Given the description of an element on the screen output the (x, y) to click on. 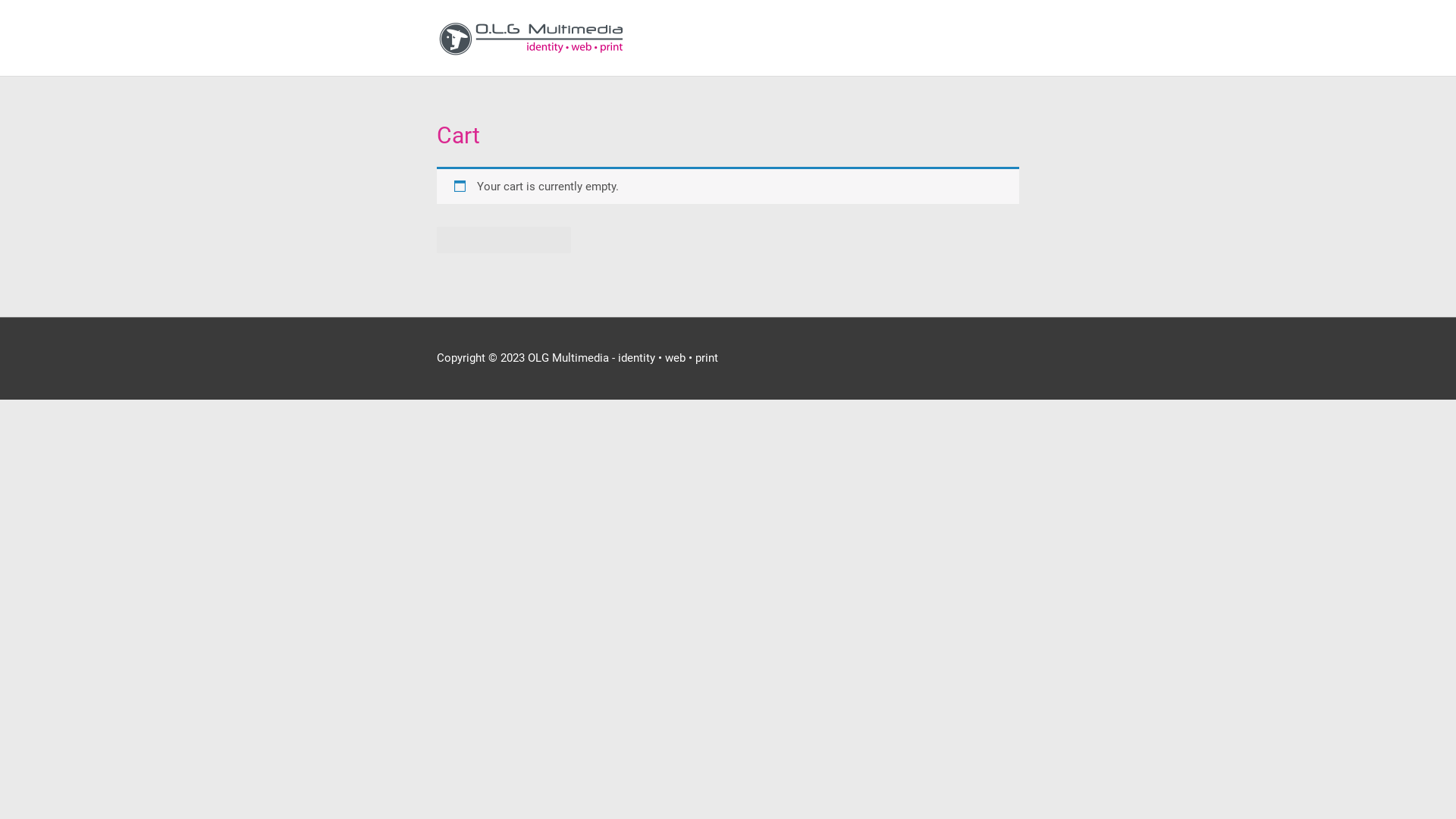
Return to shop Element type: text (503, 239)
